Given the description of an element on the screen output the (x, y) to click on. 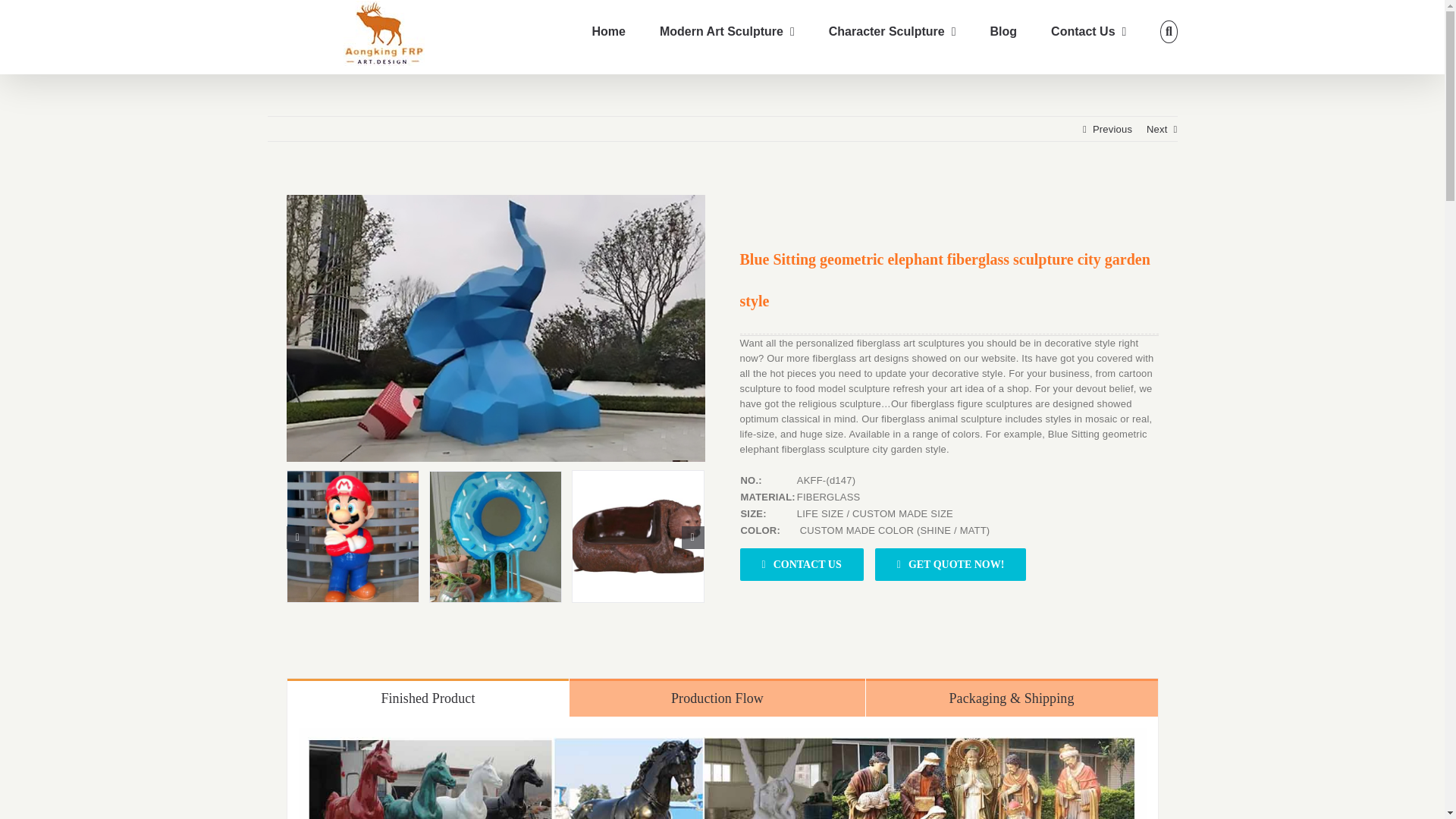
Contact Us (1088, 31)
Character Sculpture (892, 31)
Search (1168, 31)
geometric elephant fiberglass sculpture (495, 327)
Blog (1003, 31)
Modern Art Sculpture (726, 31)
Home (609, 31)
